Given the description of an element on the screen output the (x, y) to click on. 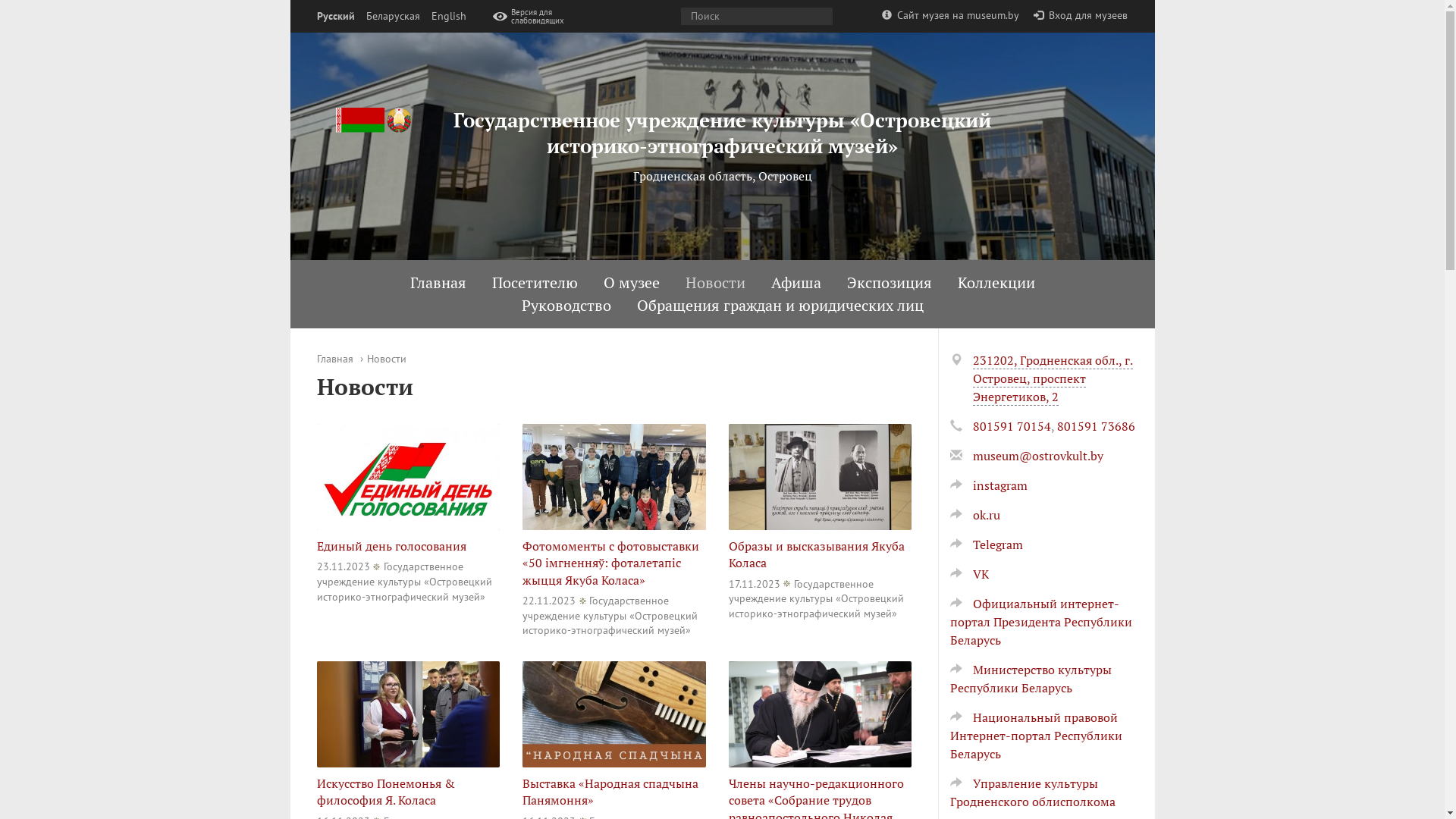
English Element type: text (447, 16)
VK Element type: text (968, 573)
instagram Element type: text (987, 484)
801591 73686 Element type: text (1096, 426)
museum@ostrovkult.by Element type: text (1037, 455)
801591 70154 Element type: text (1011, 426)
Telegram Element type: text (985, 544)
ok.ru Element type: text (974, 514)
